Given the description of an element on the screen output the (x, y) to click on. 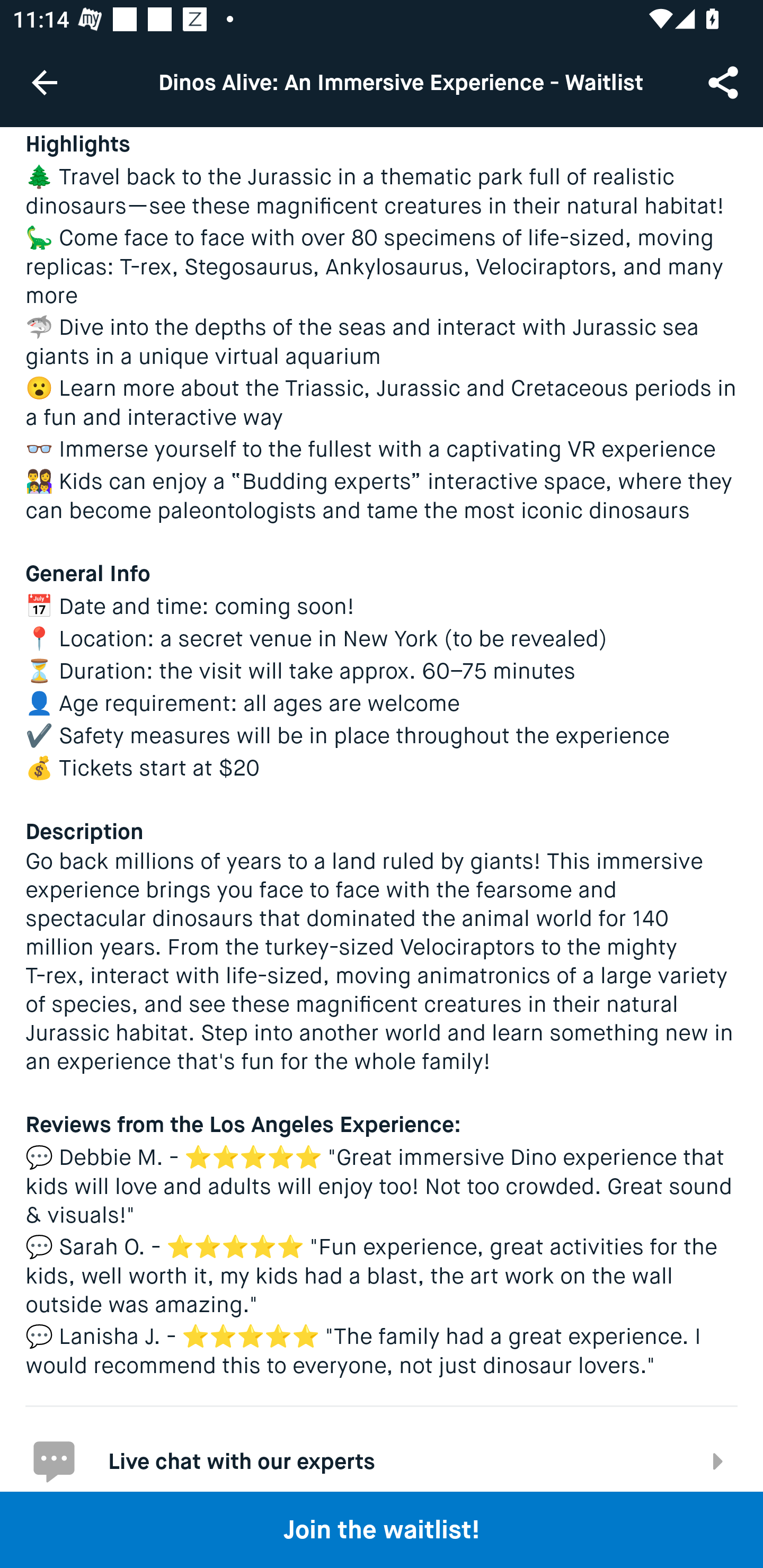
Navigate up (44, 82)
Share (724, 81)
Live chat with our experts (381, 1447)
Join the waitlist! (381, 1529)
